Given the description of an element on the screen output the (x, y) to click on. 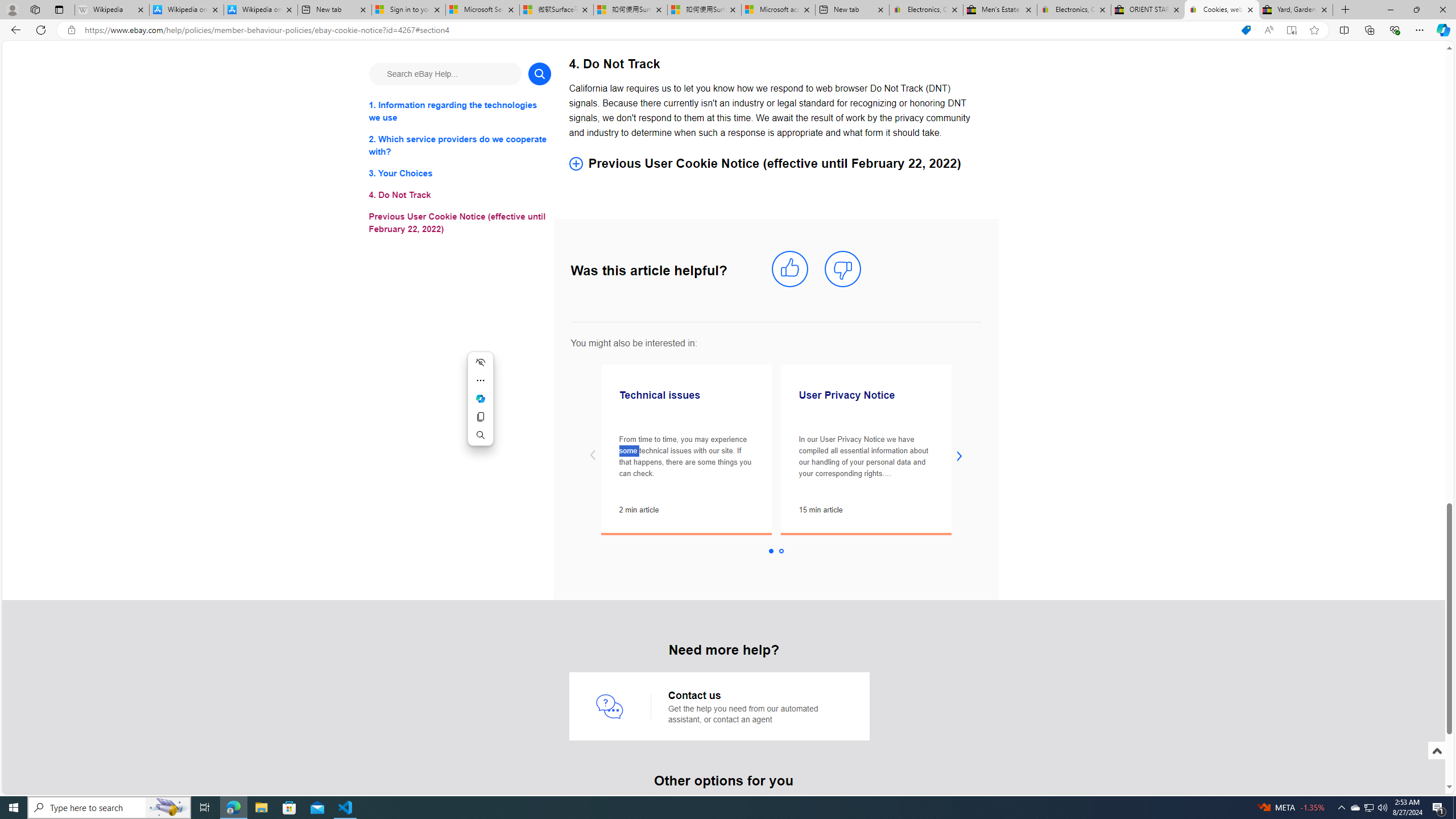
4. Do Not Track (459, 195)
1. Information regarding the technologies we use (459, 111)
1. Information regarding the technologies we use (459, 111)
